Given the description of an element on the screen output the (x, y) to click on. 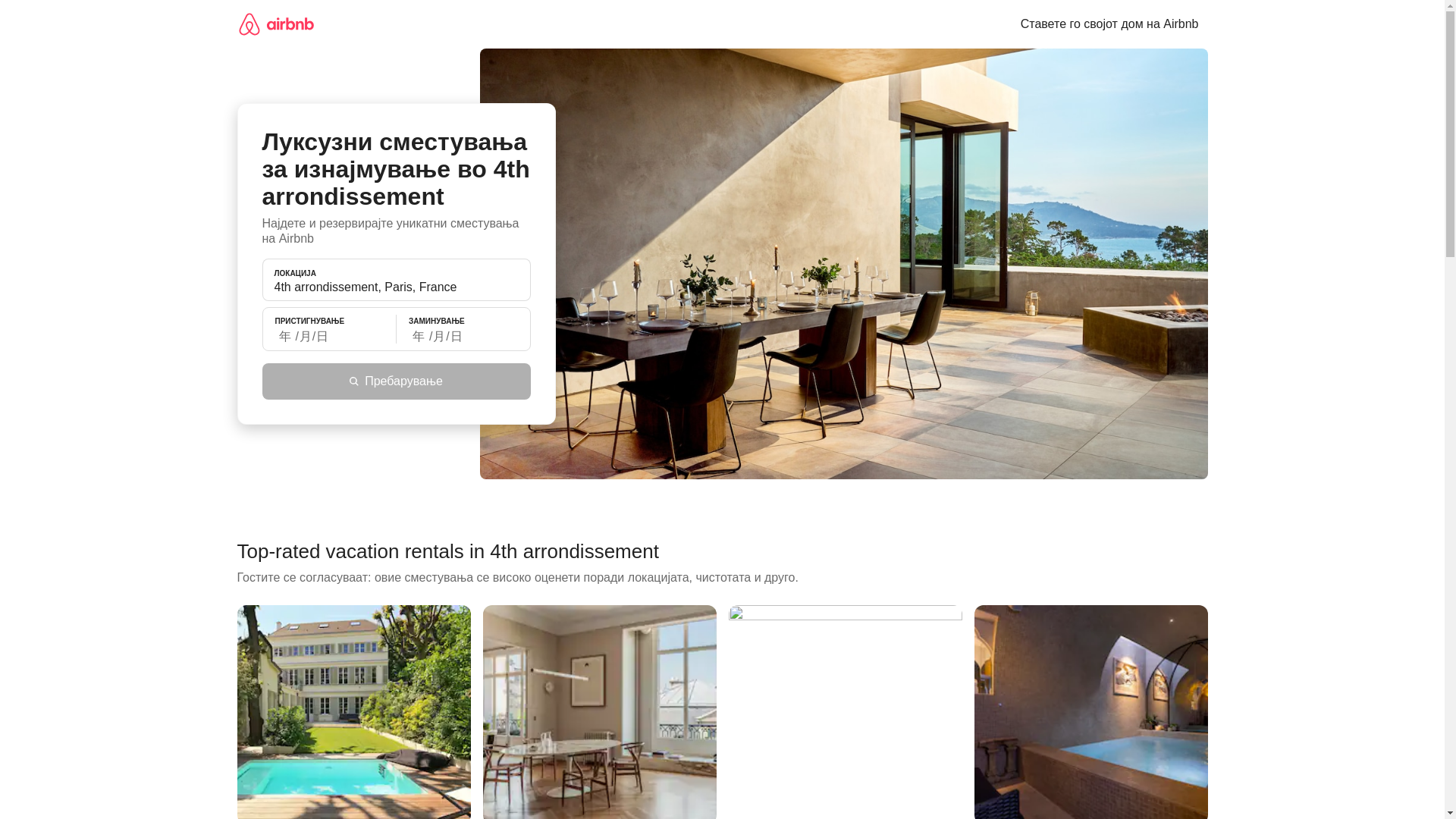
4th arrondissement, Paris, France (396, 287)
